Given the description of an element on the screen output the (x, y) to click on. 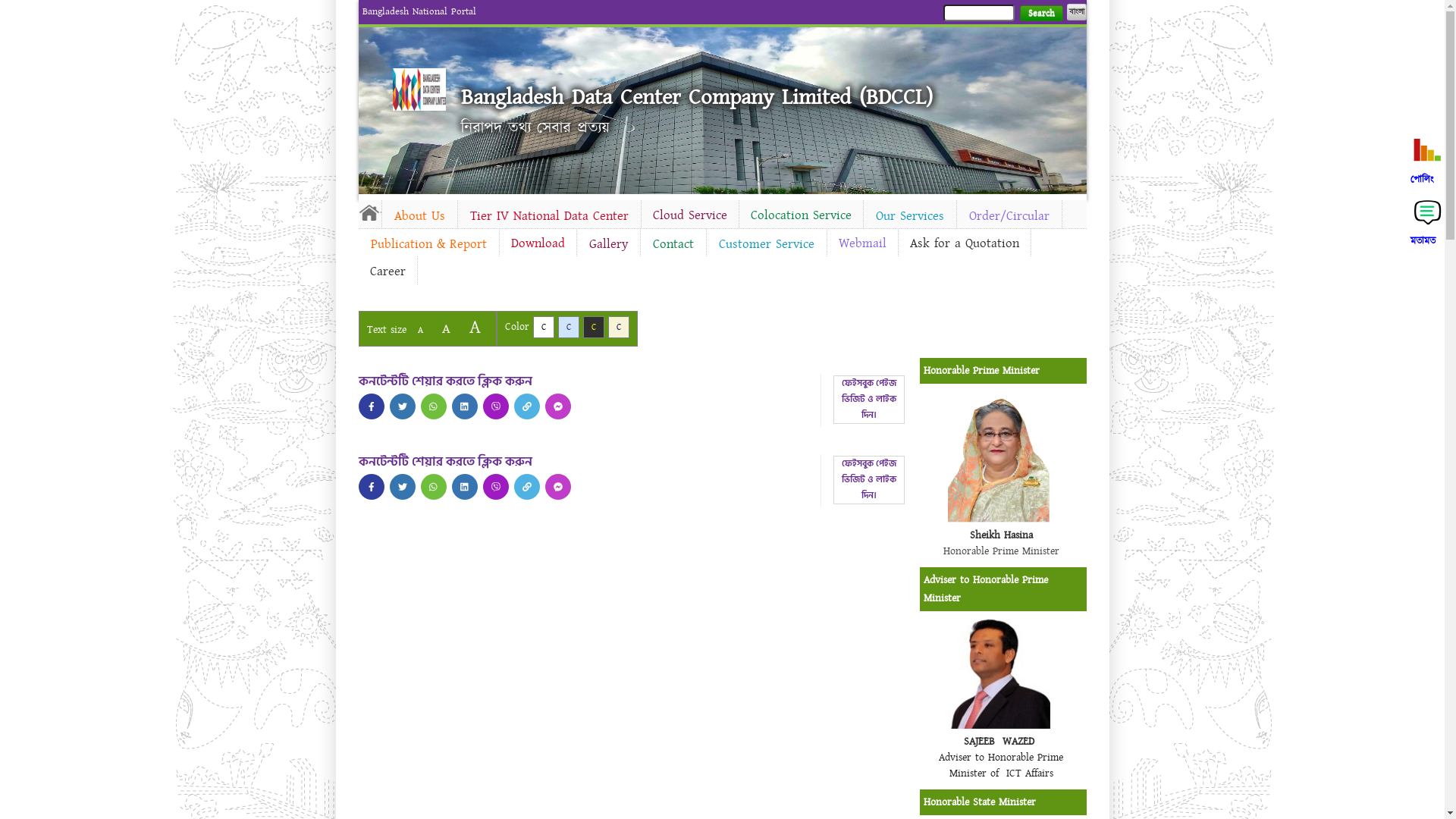
A Element type: text (445, 328)
Search Element type: text (1040, 13)
C Element type: text (592, 327)
Gallery Element type: text (607, 244)
Home Element type: hover (418, 89)
Bangladesh National Portal Element type: text (419, 11)
A Element type: text (419, 330)
Order/Circular Element type: text (1009, 216)
About Us Element type: text (419, 216)
C Element type: text (542, 327)
Contact Element type: text (672, 244)
Tier IV National Data Center Element type: text (549, 216)
Webmail Element type: text (861, 243)
Download Element type: text (536, 243)
Publication & Report Element type: text (427, 244)
A Element type: text (474, 327)
Bangladesh Data Center Company Limited (BDCCL) Element type: text (696, 96)
Our Services Element type: text (908, 216)
Cloud Service Element type: text (689, 215)
Career Element type: text (386, 271)
Customer Service Element type: text (766, 244)
Colocation Service Element type: text (800, 215)
C Element type: text (618, 327)
C Element type: text (568, 327)
Home Element type: hover (368, 211)
Ask for a Quotation Element type: text (963, 243)
